Given the description of an element on the screen output the (x, y) to click on. 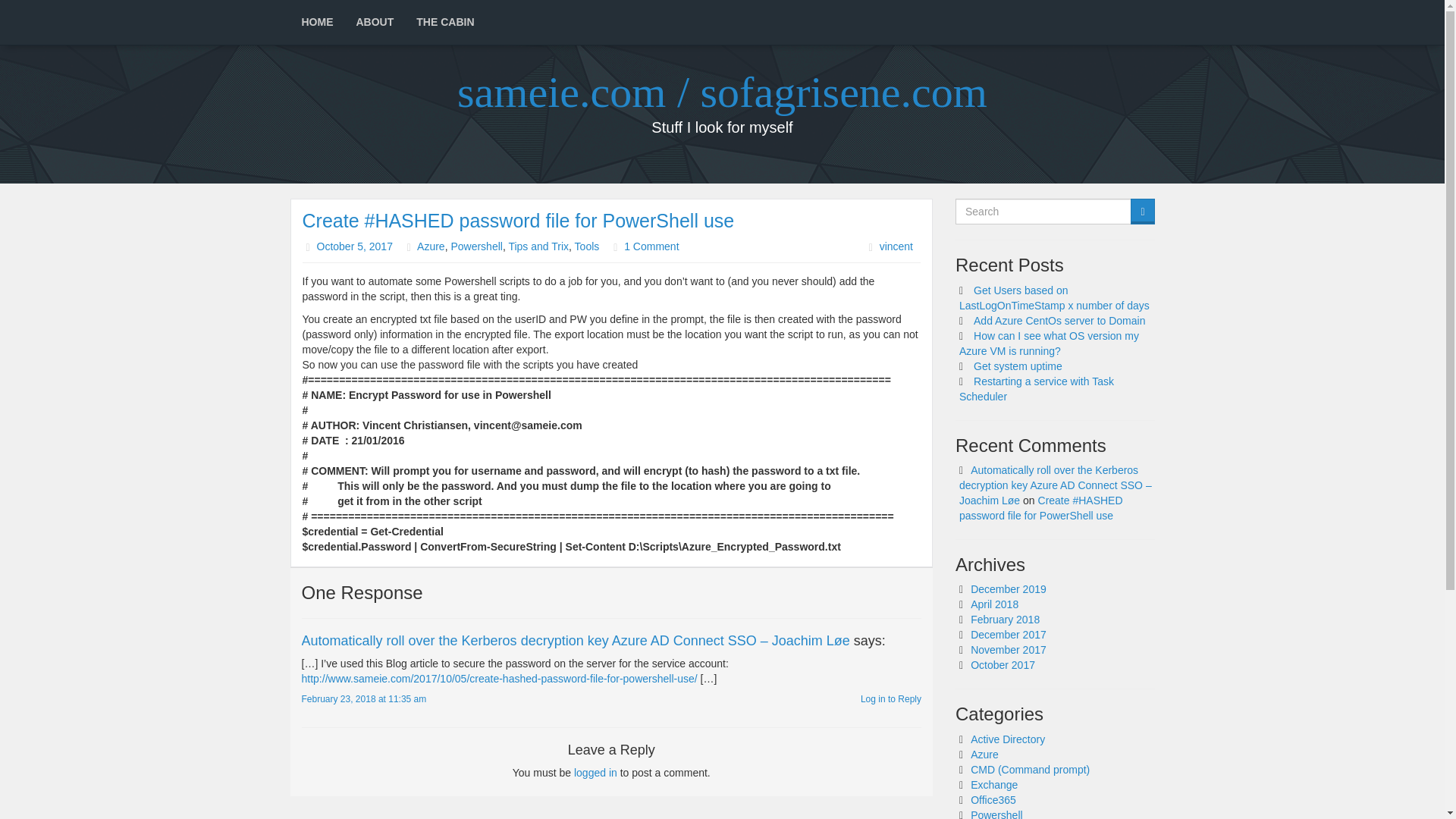
Posts by vincent (895, 246)
Get system uptime (1018, 366)
THE CABIN (444, 22)
HOME (316, 22)
ABOUT (373, 22)
Tools (587, 246)
Office365 (993, 799)
1 Comment (651, 246)
December 2019 (1008, 589)
Get Users based on LastLogOnTimeStamp x number of days (1054, 298)
